Given the description of an element on the screen output the (x, y) to click on. 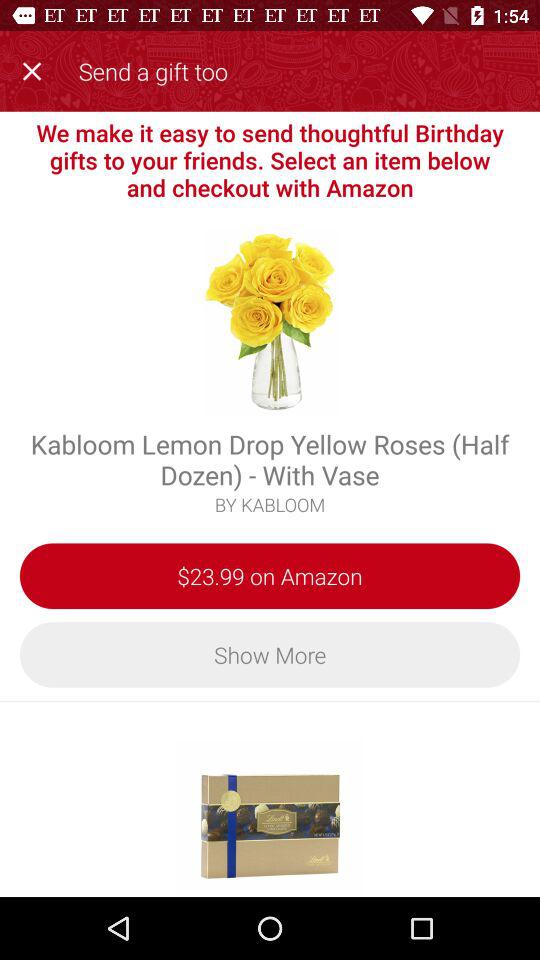
press item below by kabloom icon (269, 575)
